Given the description of an element on the screen output the (x, y) to click on. 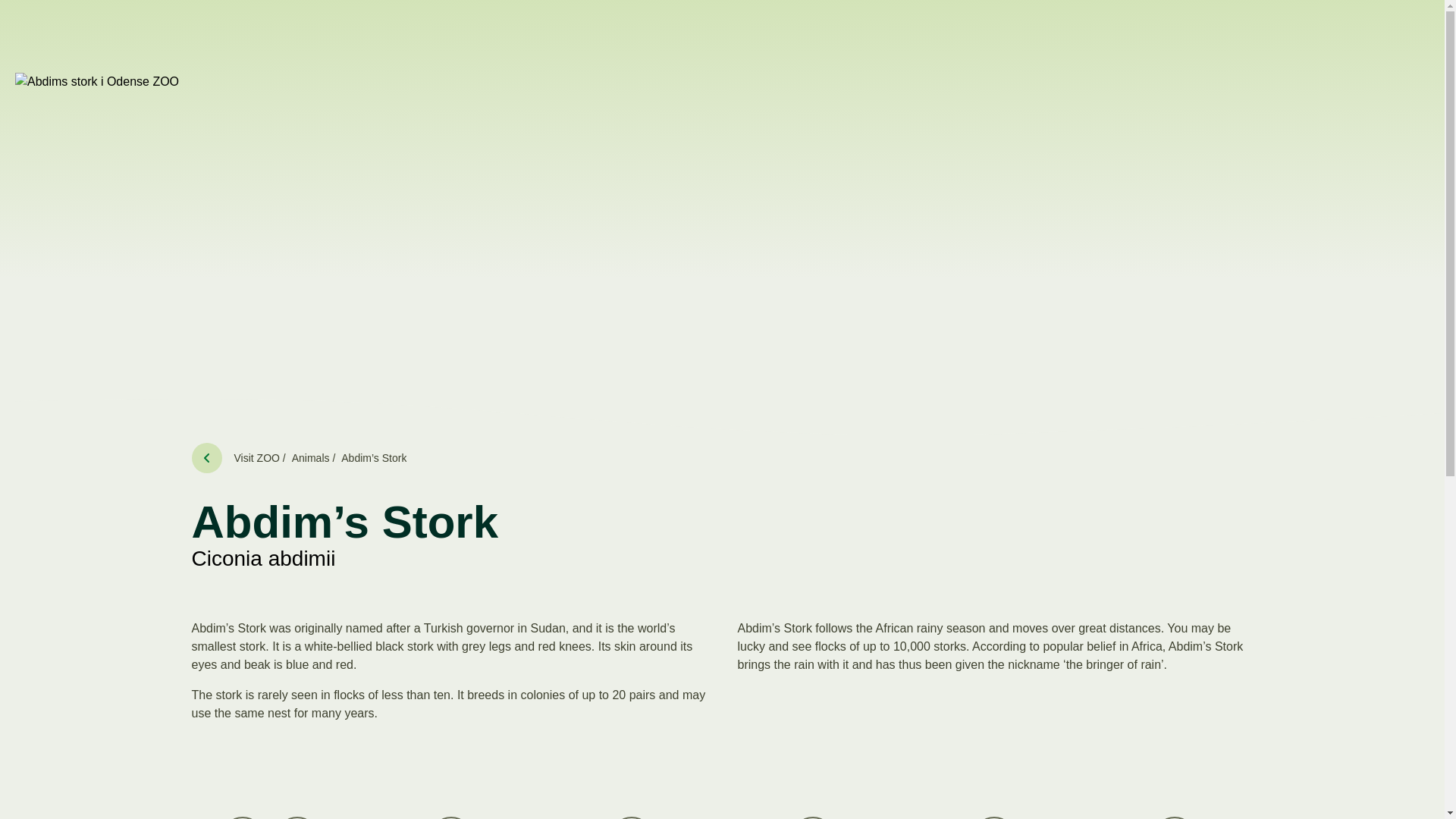
Animals (205, 458)
